Given the description of an element on the screen output the (x, y) to click on. 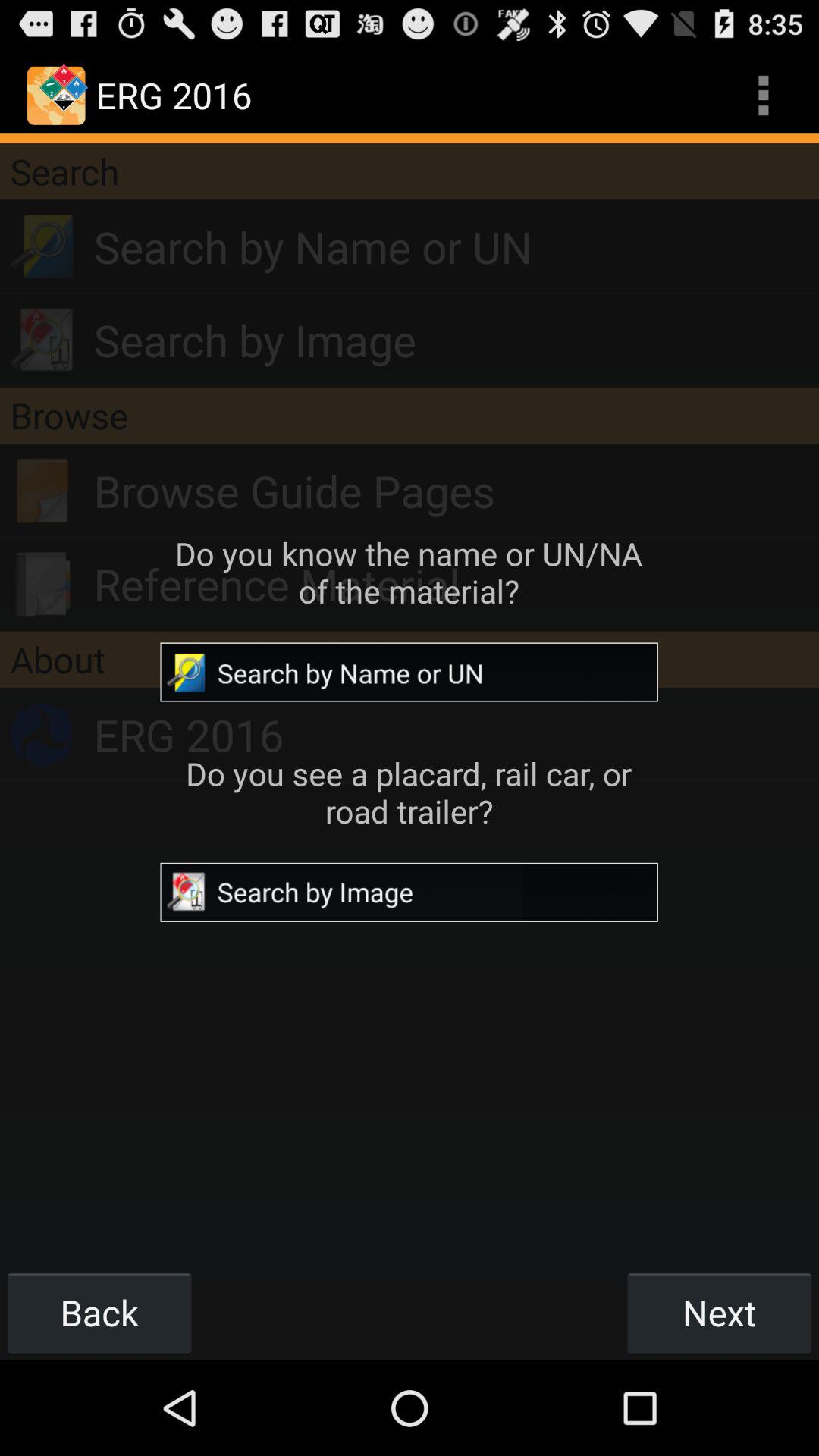
select item below browse guide pages (456, 584)
